Given the description of an element on the screen output the (x, y) to click on. 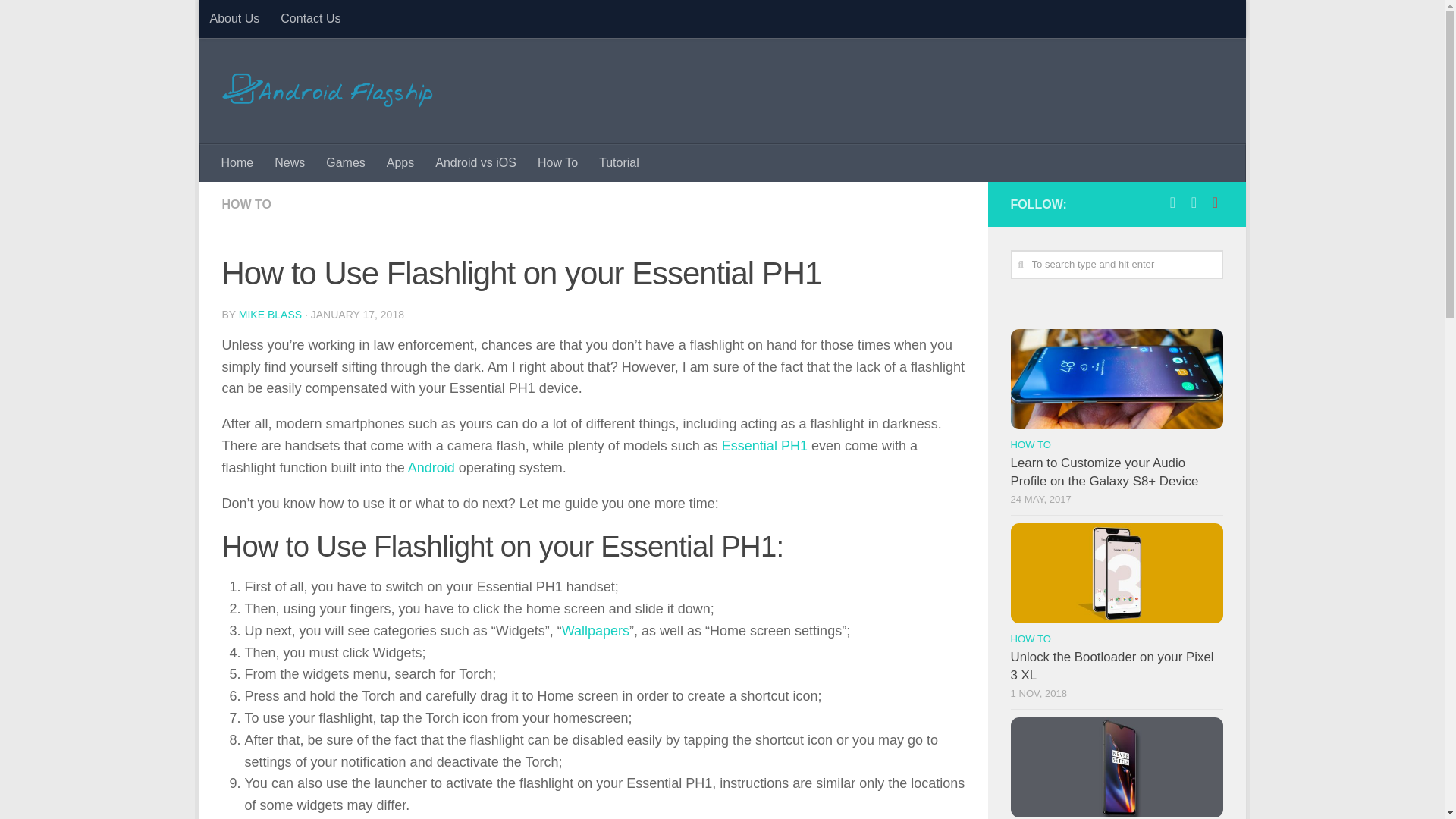
Android vs iOS (476, 162)
Wallpapers (595, 630)
HOW TO (245, 204)
Essential PH1 (765, 445)
Contact Us (309, 18)
Posts by Mike Blass (269, 314)
Android (430, 467)
MIKE BLASS (269, 314)
Apps (400, 162)
To search type and hit enter (1116, 264)
